Given the description of an element on the screen output the (x, y) to click on. 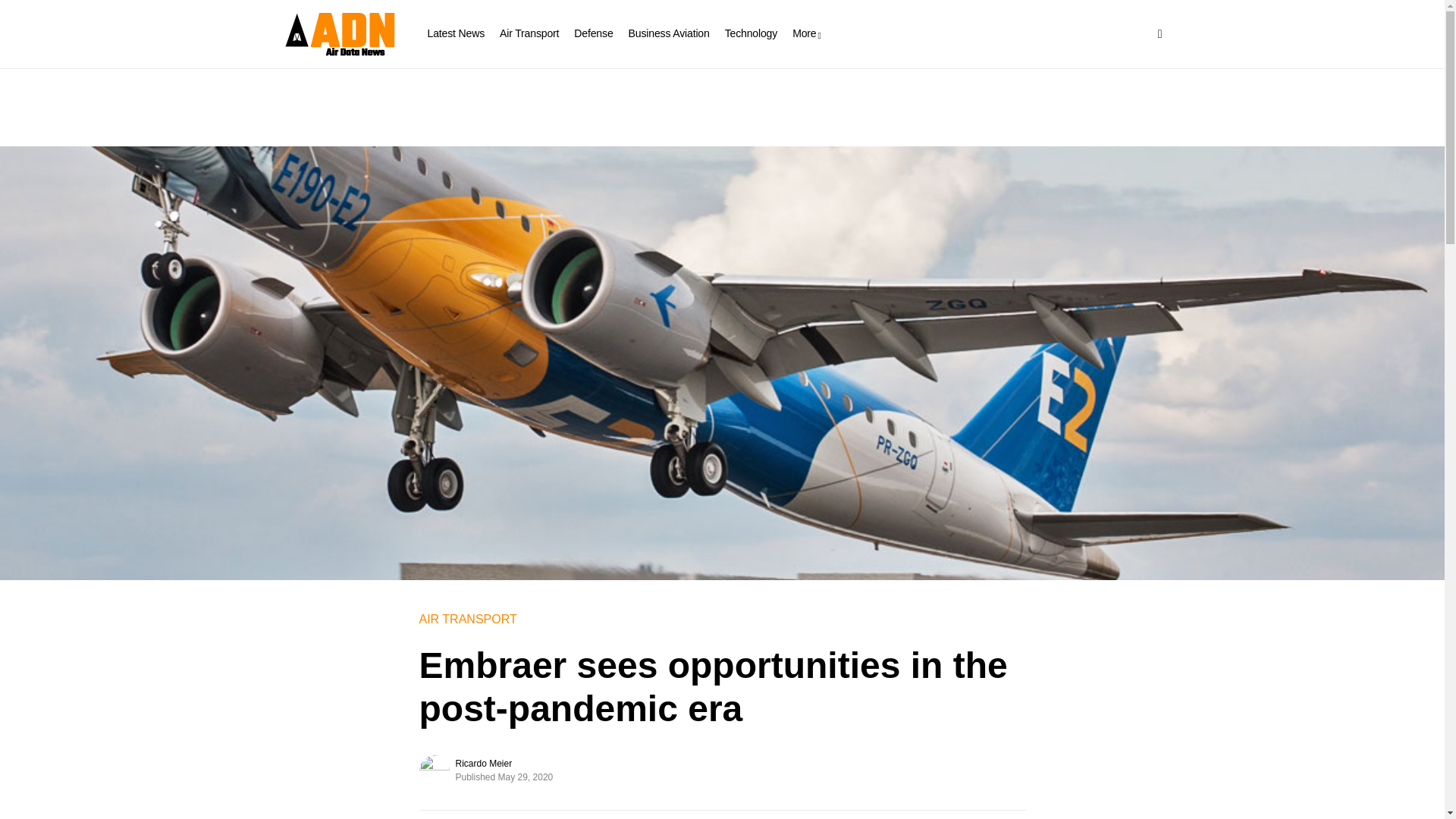
Business Aviation (669, 33)
Ricardo Meier (483, 763)
AIR TRANSPORT (467, 618)
